Given the description of an element on the screen output the (x, y) to click on. 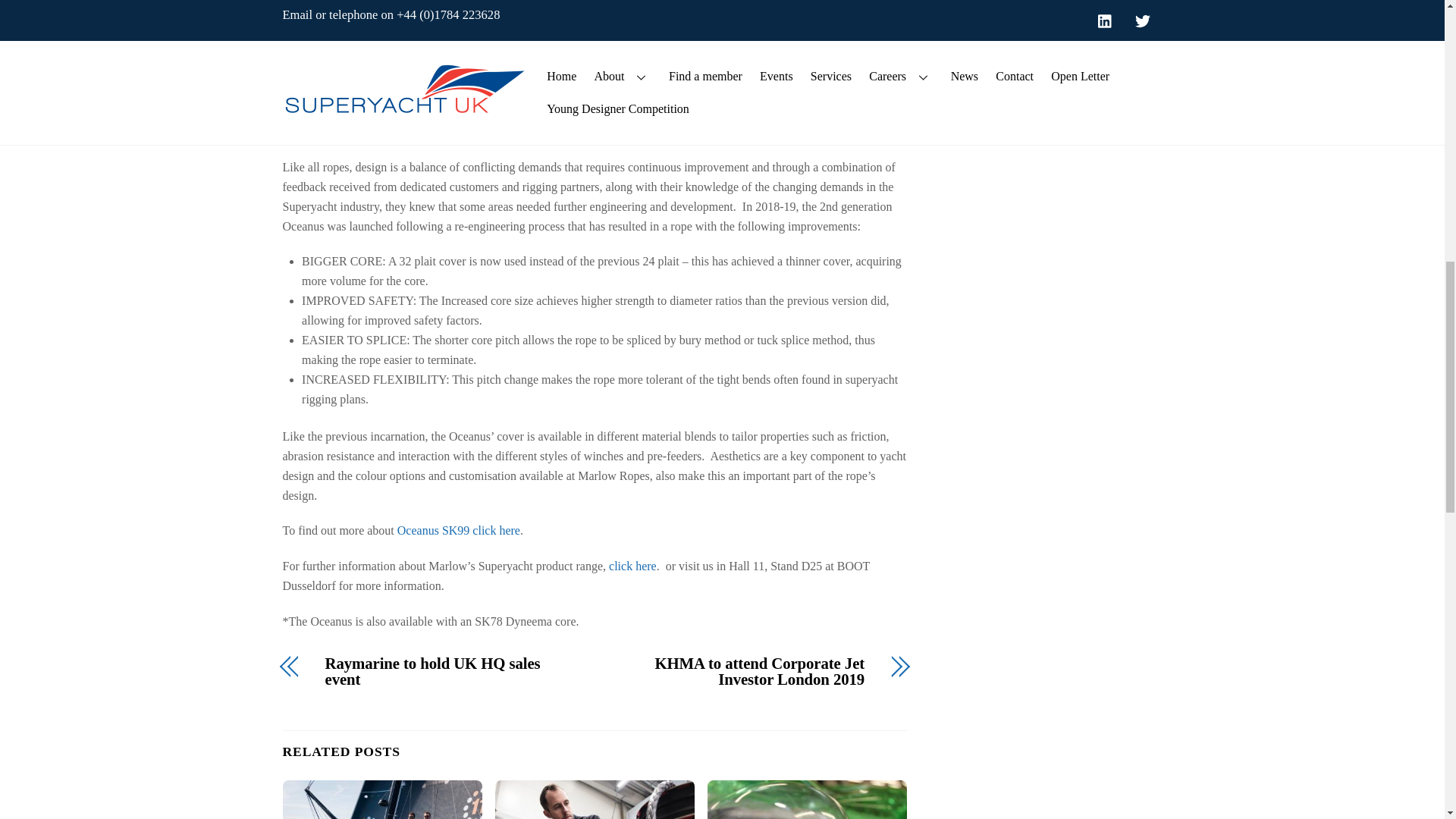
KHMA to attend Corporate Jet Investor London 2019 (738, 671)
 click here (630, 565)
11th-hour-racing-marlow-ropes (381, 799)
Oceanus SK99 click here (458, 530)
marlowineos (595, 799)
Raymarine to hold UK HQ sales event (449, 671)
